Given the description of an element on the screen output the (x, y) to click on. 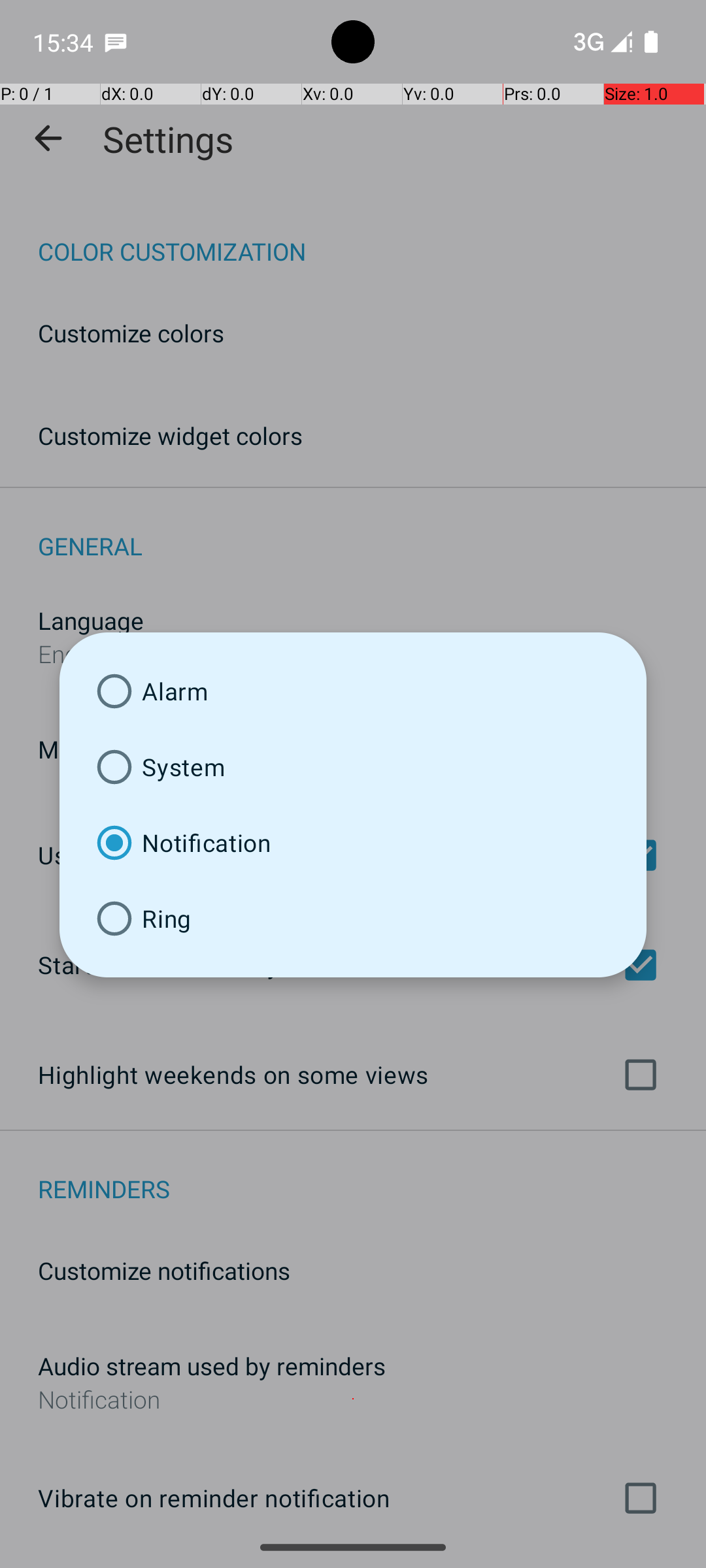
System Element type: android.widget.RadioButton (352, 766)
Notification Element type: android.widget.RadioButton (352, 842)
Ring Element type: android.widget.RadioButton (352, 918)
